Given the description of an element on the screen output the (x, y) to click on. 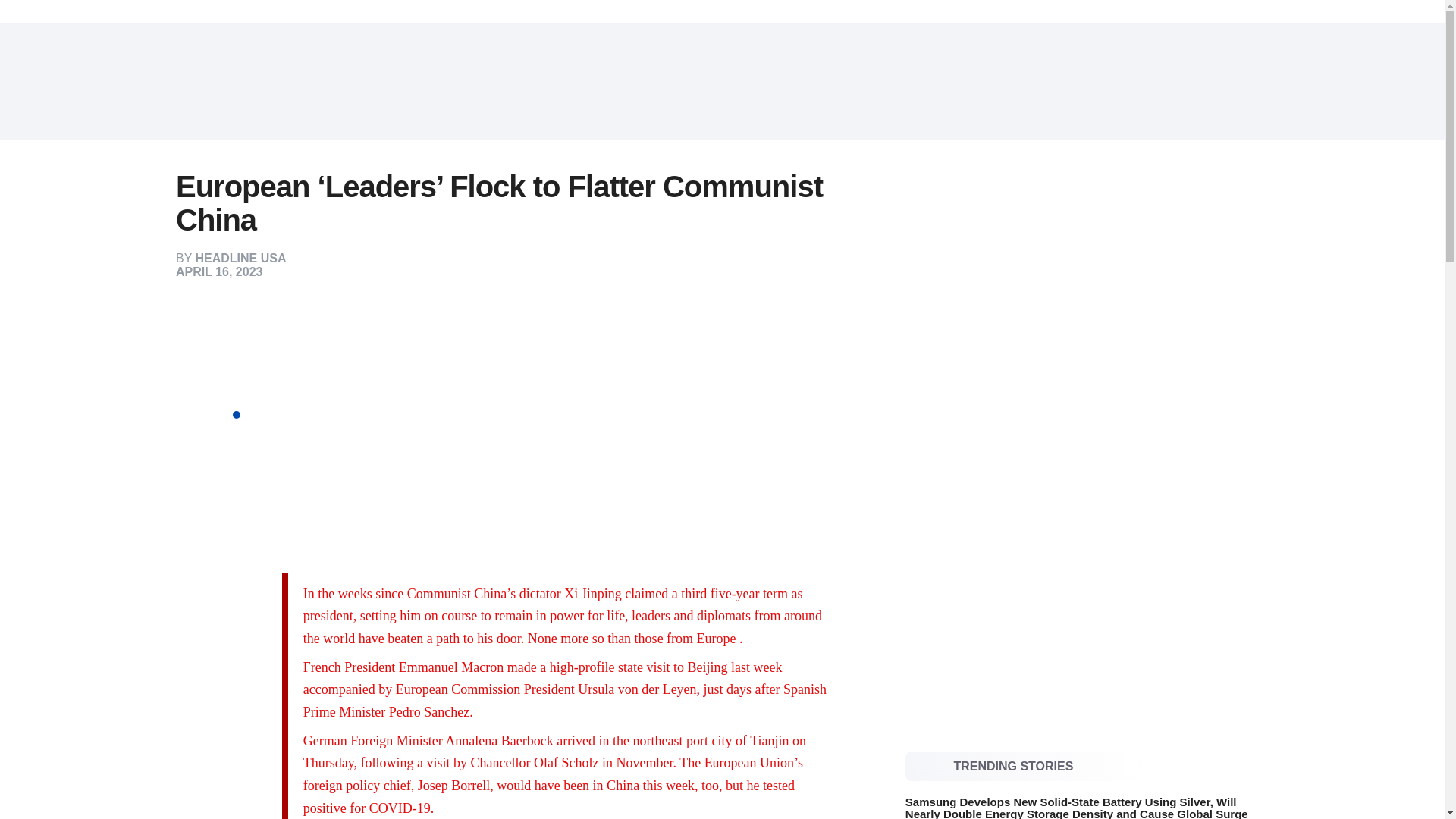
Comment (226, 421)
Posts by Headline USA (240, 257)
Share (226, 391)
Search (1252, 81)
Tweet (226, 361)
Share (226, 330)
Print (226, 452)
HEADLINE USA (240, 257)
